Given the description of an element on the screen output the (x, y) to click on. 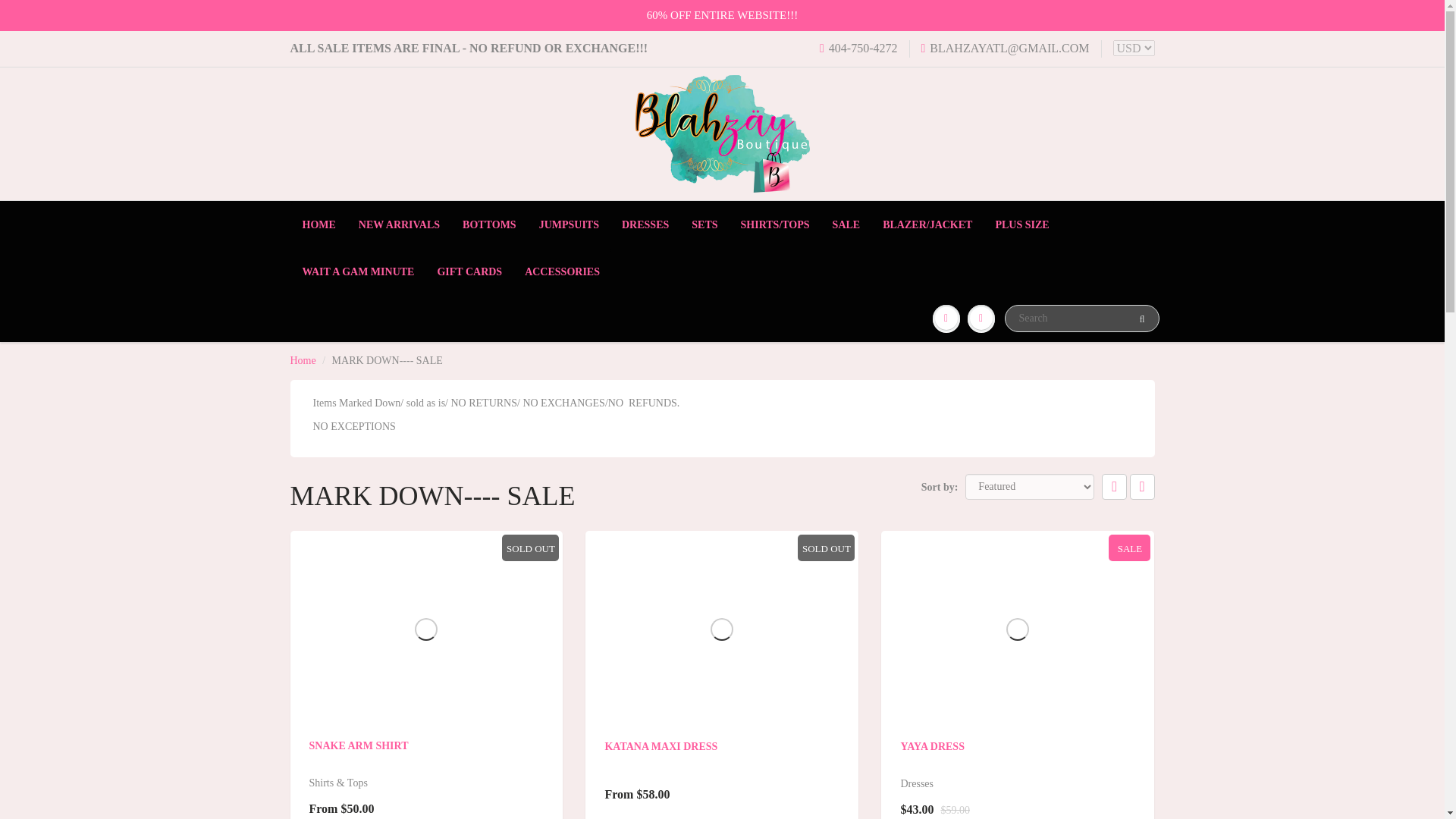
SETS (704, 224)
WAIT A GAM MINUTE (358, 271)
404-750-4272 (858, 48)
Home (302, 360)
PLUS SIZE (1021, 224)
ACCESSORIES (562, 271)
SALE (846, 224)
List View (1141, 486)
JUMPSUITS (568, 224)
BOTTOMS (489, 224)
NEW ARRIVALS (399, 224)
Grid view (1114, 486)
Home (302, 360)
GIFT CARDS (469, 271)
HOME (319, 224)
